Given the description of an element on the screen output the (x, y) to click on. 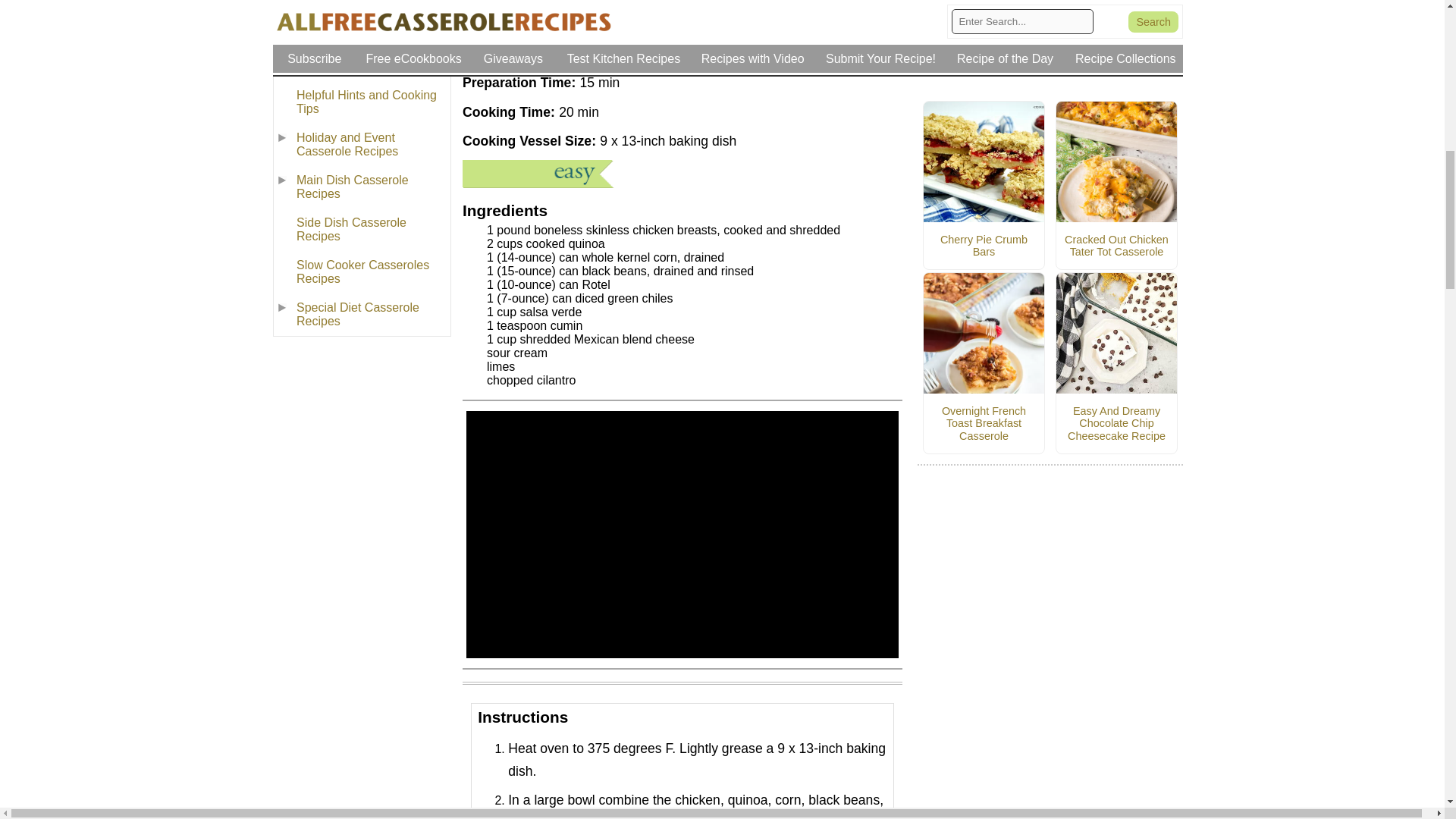
YouTube Video (681, 534)
